Given the description of an element on the screen output the (x, y) to click on. 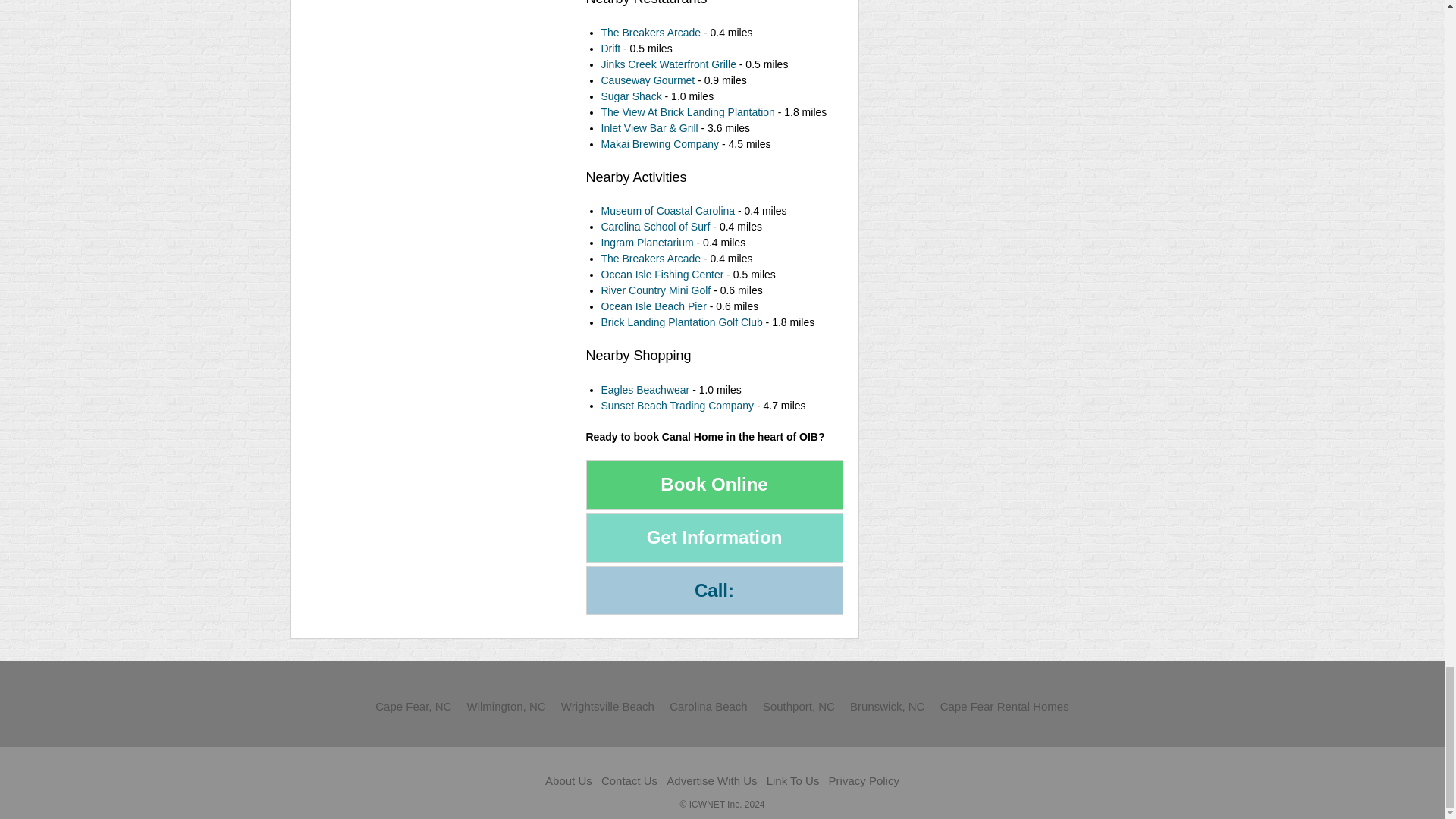
The Breakers Arcade (649, 32)
The View At Brick Landing Plantation (686, 111)
Causeway Gourmet (646, 80)
Sugar Shack (631, 96)
Drift (609, 48)
Jinks Creek Waterfront Grille (667, 64)
Makai Brewing Company (659, 143)
